Given the description of an element on the screen output the (x, y) to click on. 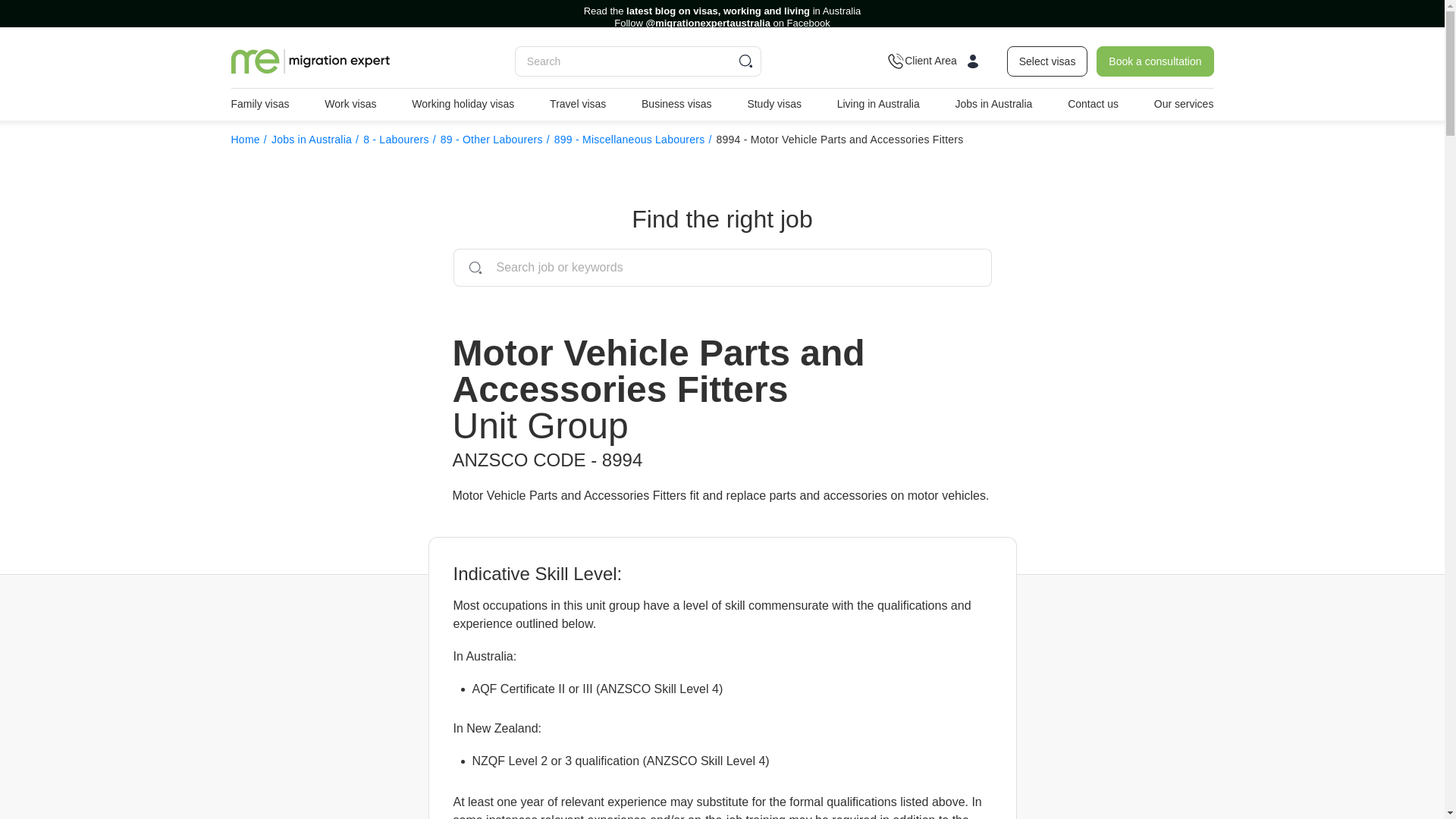
Select visas (1047, 60)
Book a consultation (1154, 60)
Family visas (259, 104)
Client Area (940, 60)
